Given the description of an element on the screen output the (x, y) to click on. 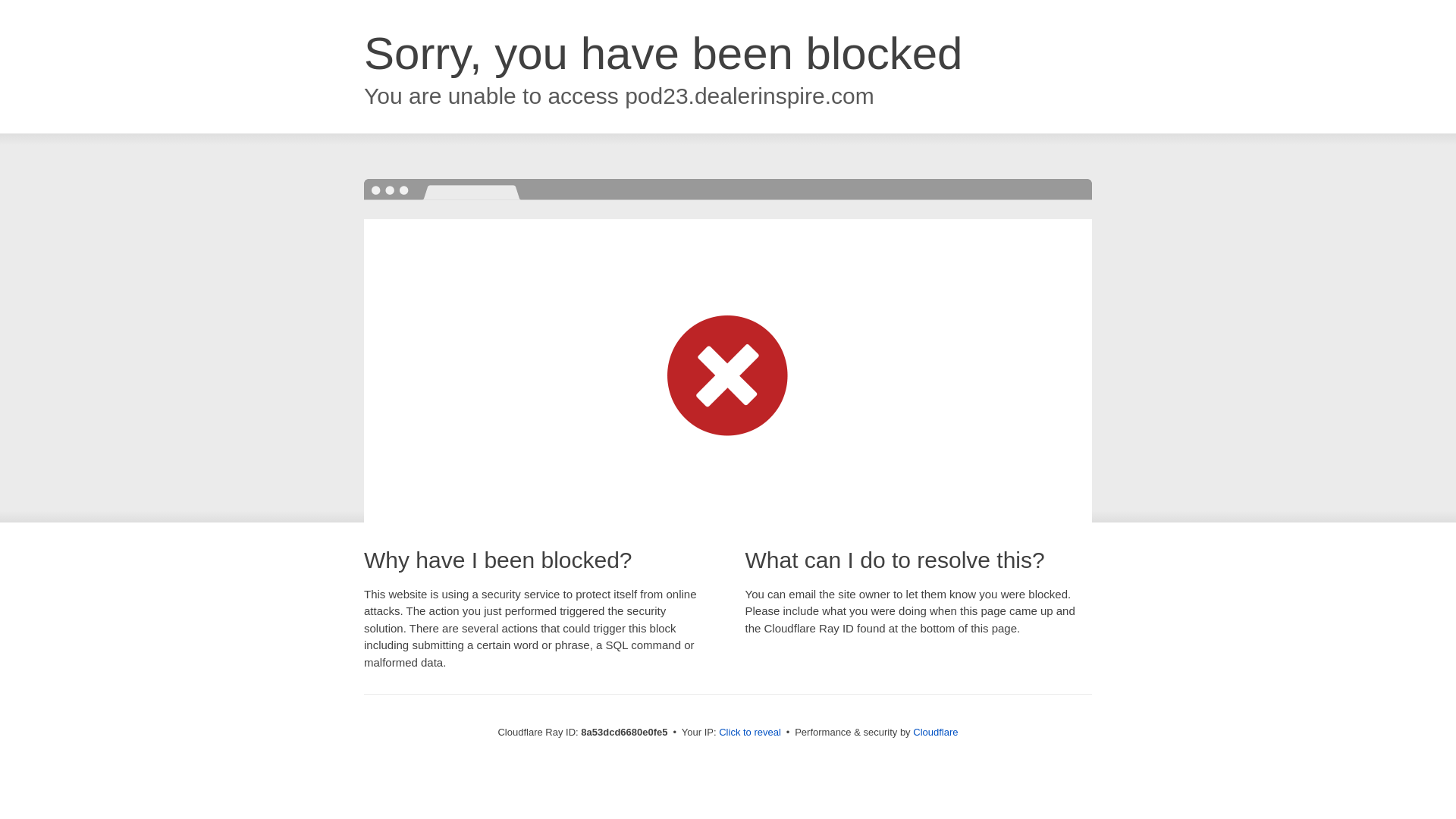
Click to reveal (749, 732)
Cloudflare (935, 731)
